Given the description of an element on the screen output the (x, y) to click on. 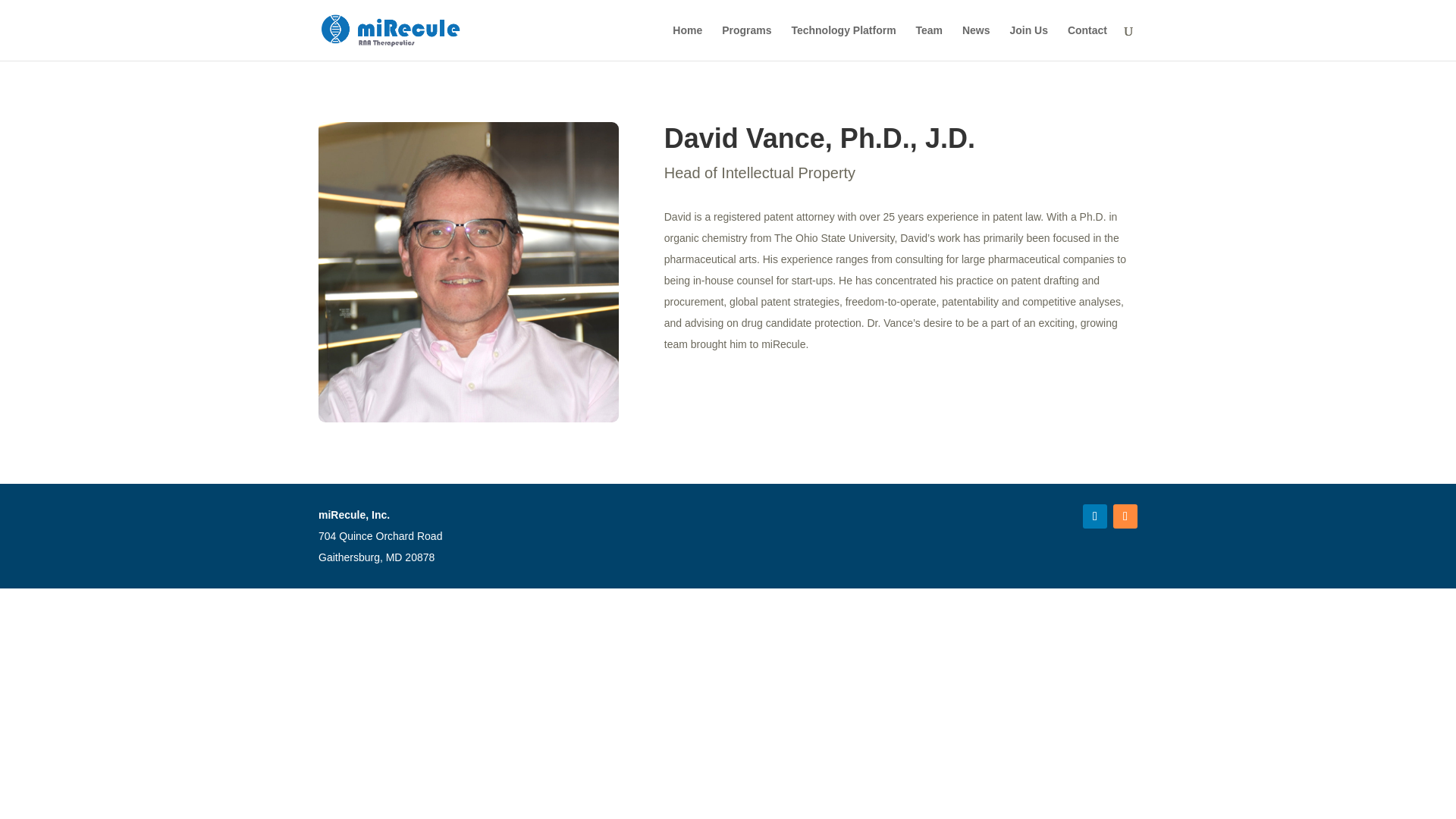
Follow on LinkedIn (1094, 516)
Technology Platform (842, 42)
Follow on RSS (1125, 516)
David Vance (468, 272)
Join Us (1028, 42)
Contact (1086, 42)
Programs (746, 42)
